Given the description of an element on the screen output the (x, y) to click on. 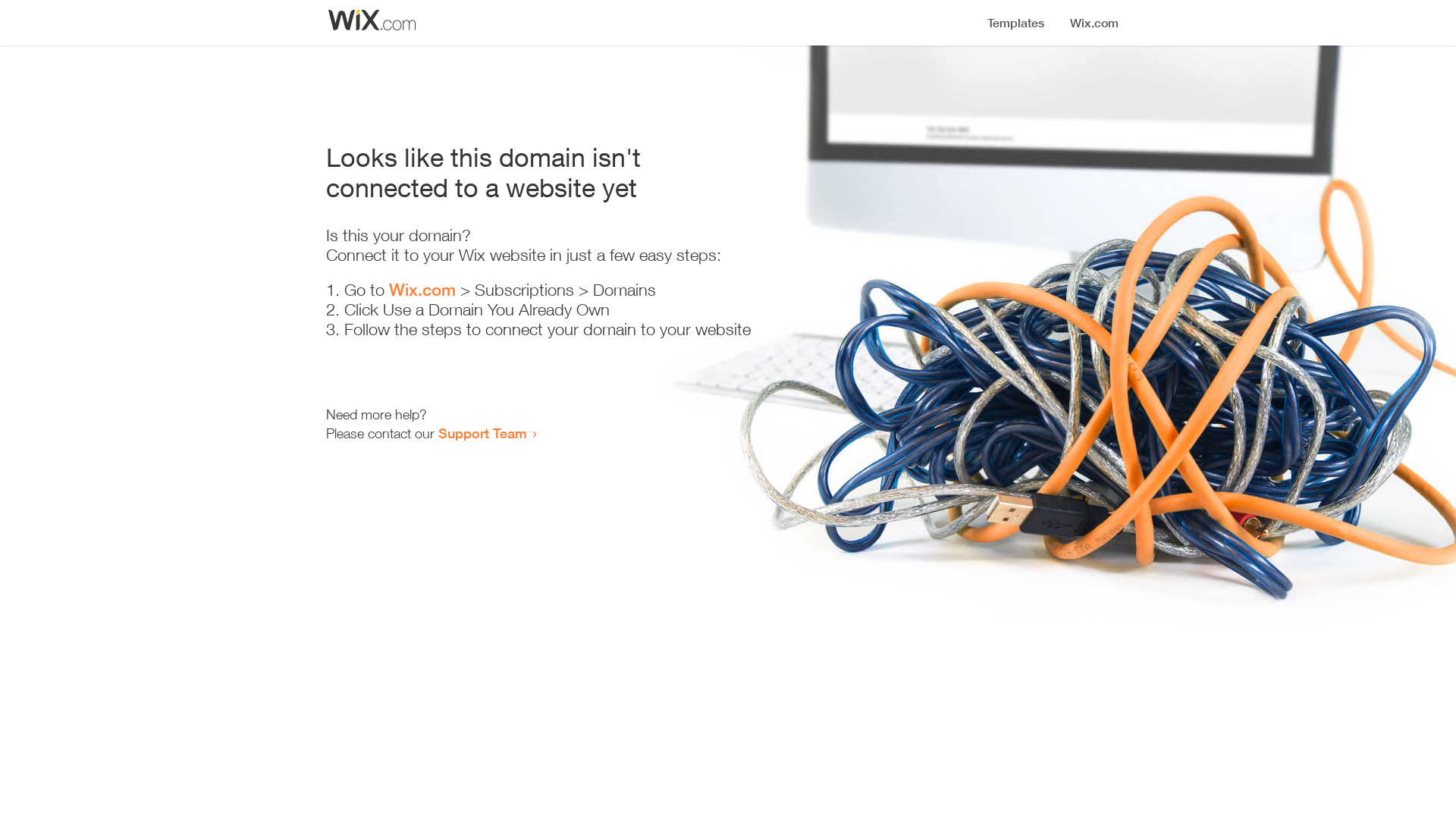
Support Team Element type: text (482, 432)
Wix.com Element type: text (422, 289)
